Given the description of an element on the screen output the (x, y) to click on. 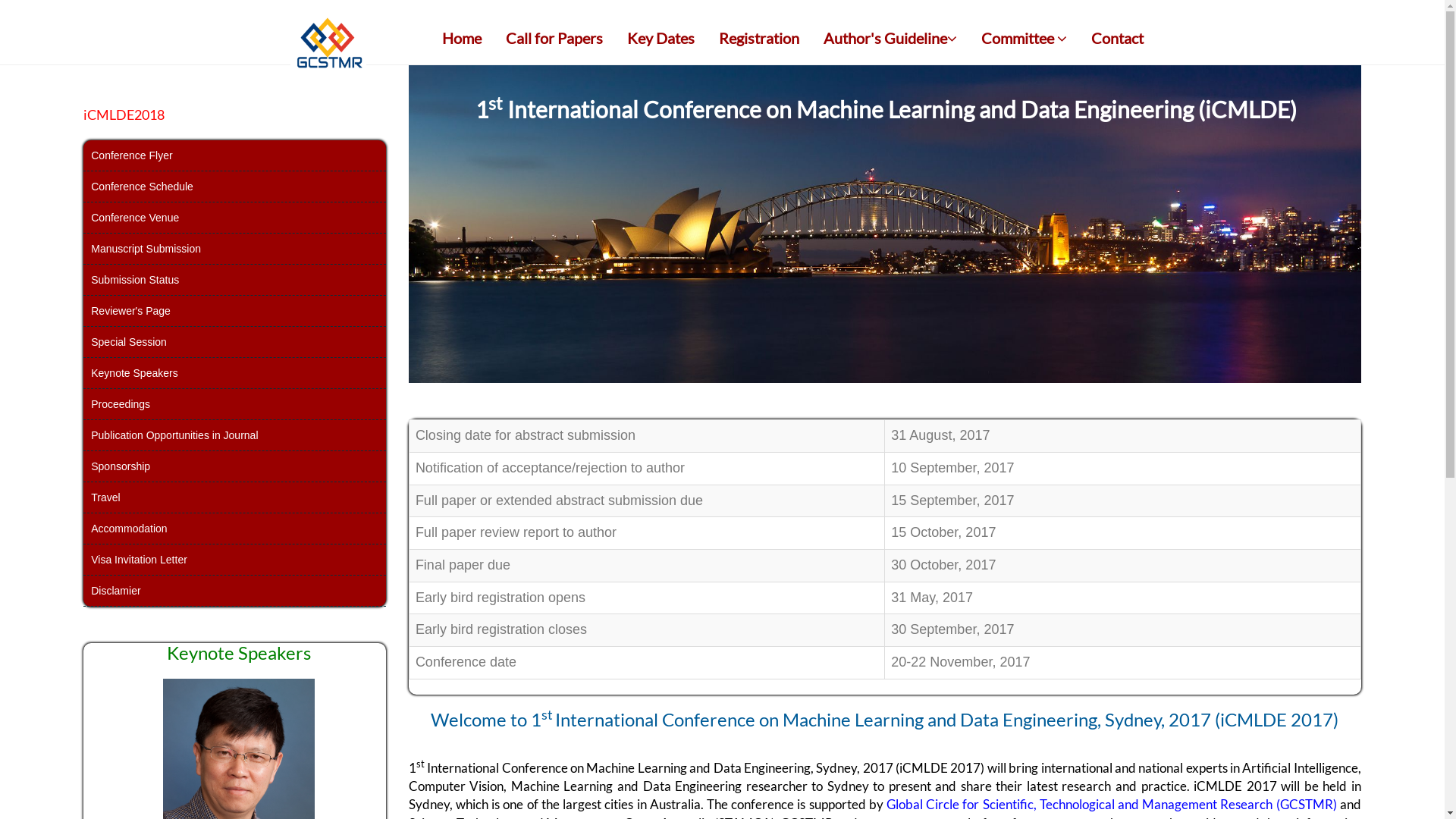
Home Element type: text (461, 37)
Accommodation Element type: text (234, 528)
Visa Invitation Letter Element type: text (234, 559)
Committee Element type: text (1023, 37)
iCMLDE2018 Element type: text (123, 113)
Registration Element type: text (757, 37)
Conference Venue Element type: text (234, 217)
Keynote Speakers Element type: text (234, 373)
Sponsorship Element type: text (234, 466)
Reviewer's Page Element type: text (234, 310)
Call for Papers Element type: text (554, 37)
Submission Status Element type: text (234, 279)
Publication Opportunities in Journal Element type: text (234, 435)
Special Session Element type: text (234, 341)
Manuscript Submission Element type: text (234, 248)
Contact Element type: text (1116, 37)
Proceedings Element type: text (234, 404)
Disclamier Element type: text (234, 590)
Author's Guideline Element type: text (889, 37)
Key Dates Element type: text (660, 37)
Conference Flyer Element type: text (234, 155)
Conference Schedule Element type: text (234, 186)
Travel Element type: text (234, 497)
